Given the description of an element on the screen output the (x, y) to click on. 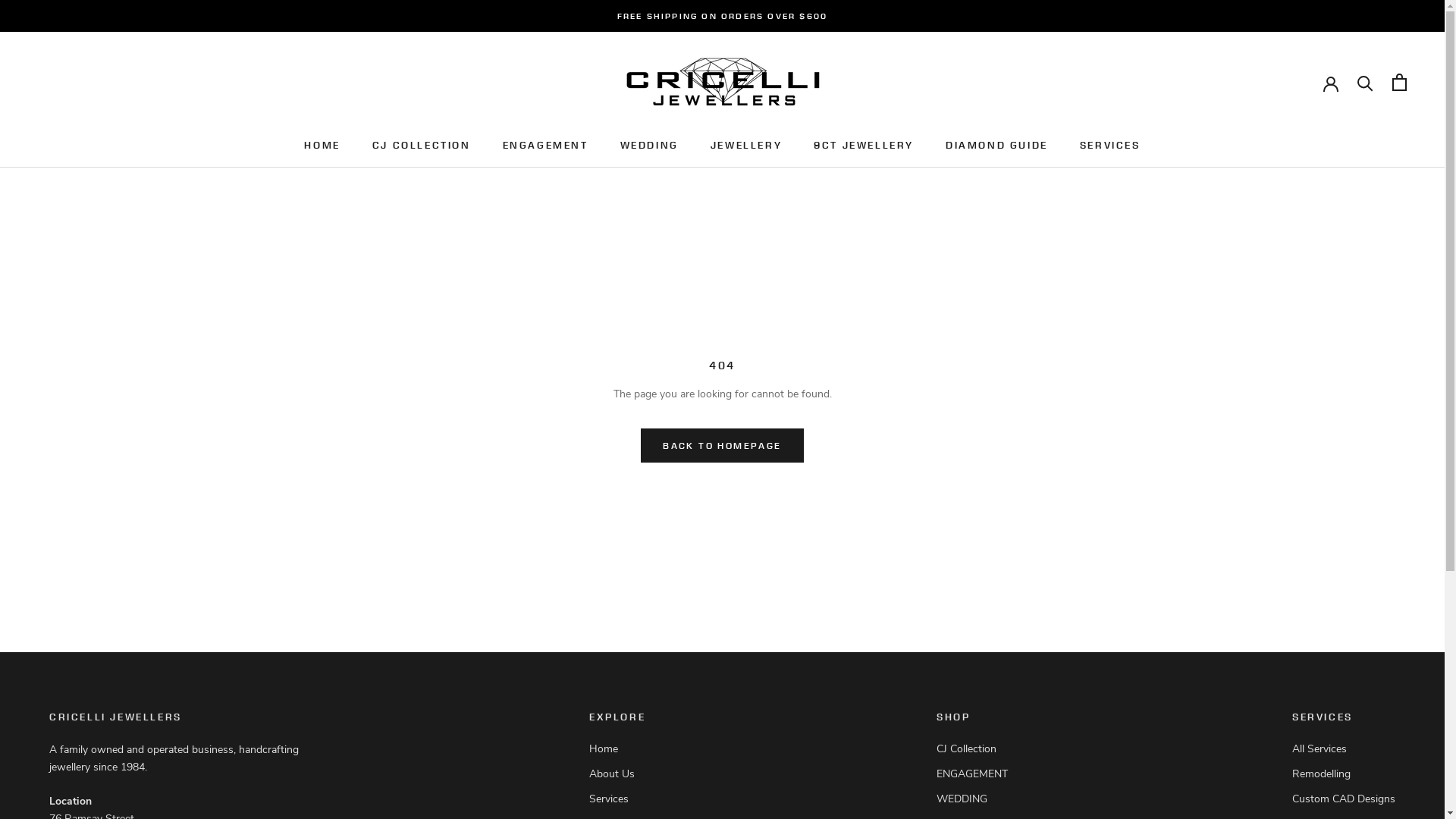
ENGAGEMENT Element type: text (976, 773)
WEDDING Element type: text (649, 144)
JEWELLERY Element type: text (745, 144)
CJ Collection Element type: text (976, 748)
DIAMOND GUIDE
DIAMOND GUIDE Element type: text (996, 144)
All Services Element type: text (1343, 748)
Remodelling Element type: text (1343, 773)
ENGAGEMENT Element type: text (545, 144)
About Us Element type: text (625, 773)
SERVICES
SERVICES Element type: text (1109, 144)
Services Element type: text (625, 798)
CJ COLLECTION Element type: text (421, 144)
FREE SHIPPING ON ORDERS OVER $600 Element type: text (722, 15)
BACK TO HOMEPAGE Element type: text (721, 445)
HOME
HOME Element type: text (321, 144)
9CT JEWELLERY Element type: text (863, 144)
Home Element type: text (625, 748)
Custom CAD Designs Element type: text (1343, 798)
WEDDING Element type: text (976, 798)
